Given the description of an element on the screen output the (x, y) to click on. 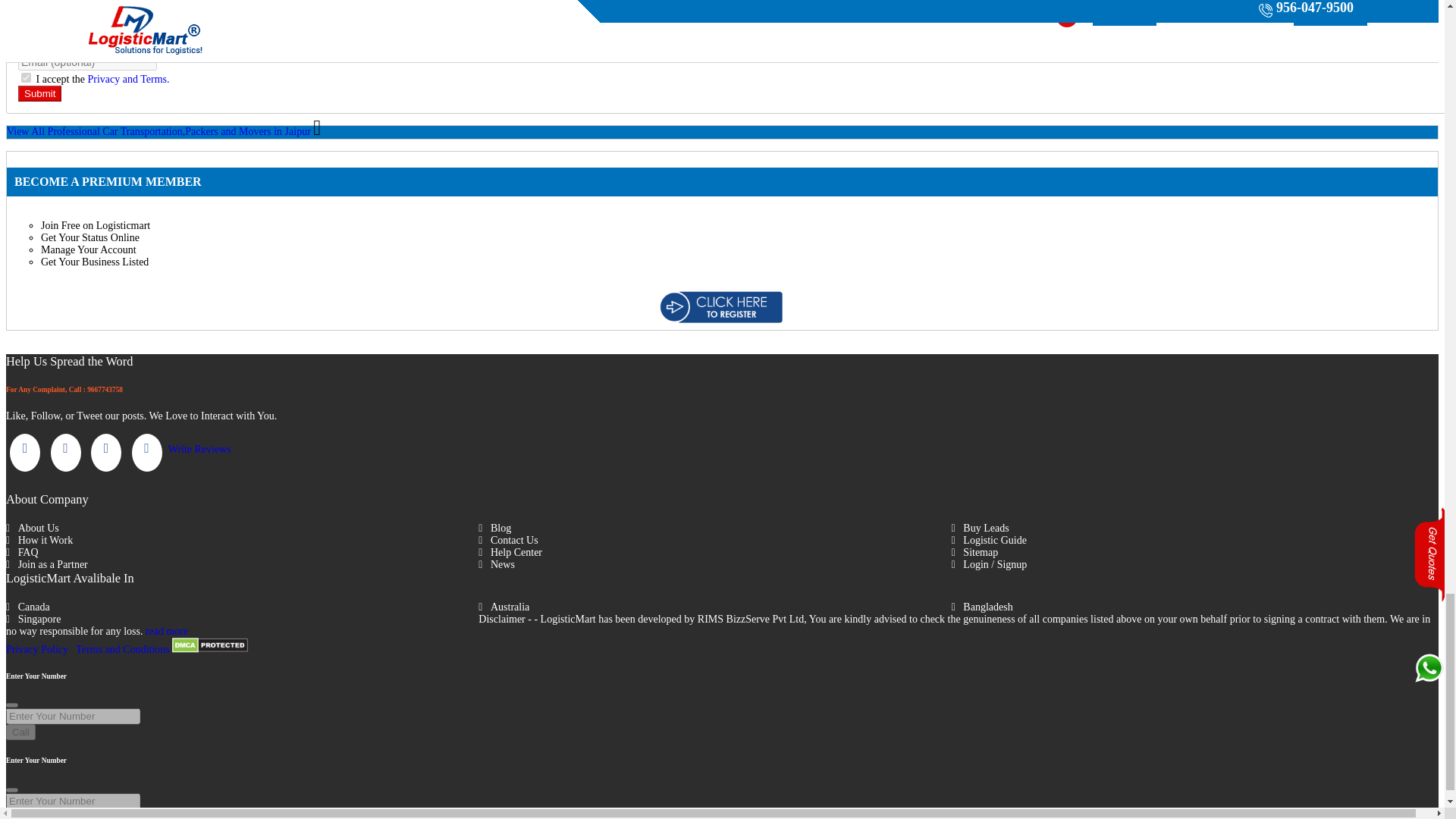
Contact Us (714, 540)
facebook (25, 452)
Write Reviews (199, 449)
Logistic Guide (1187, 540)
Sitemap (1187, 552)
DMCA.com Protection Status (209, 649)
About Us (242, 528)
Privacy Policy (36, 649)
How it Work (242, 540)
Submit (39, 93)
Australia (714, 607)
Join as a Partner (242, 564)
Privacy and Terms. (128, 79)
News (714, 564)
